Given the description of an element on the screen output the (x, y) to click on. 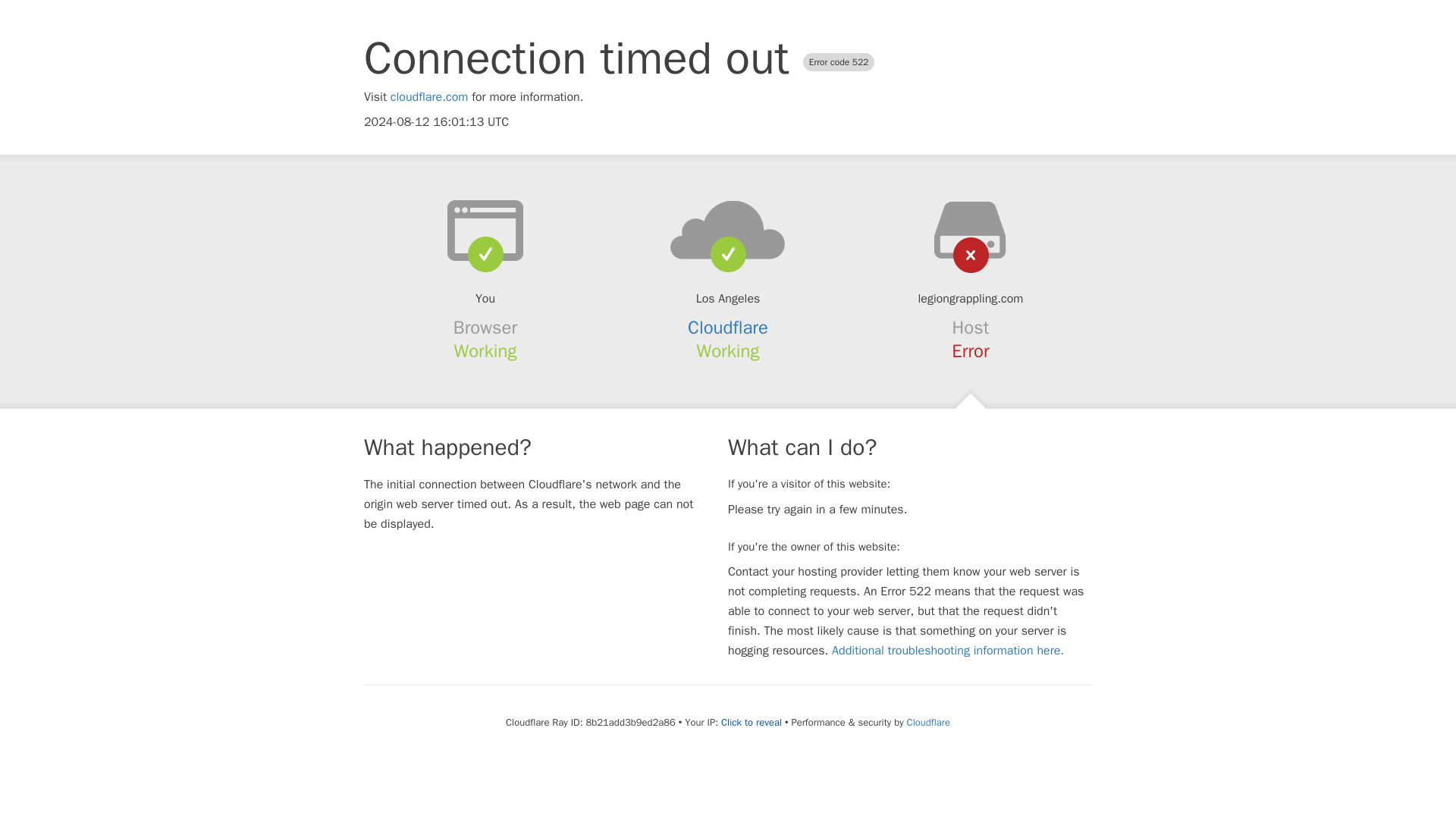
Cloudflare (727, 327)
Click to reveal (750, 722)
cloudflare.com (429, 96)
Cloudflare (928, 721)
Additional troubleshooting information here. (947, 650)
